Given the description of an element on the screen output the (x, y) to click on. 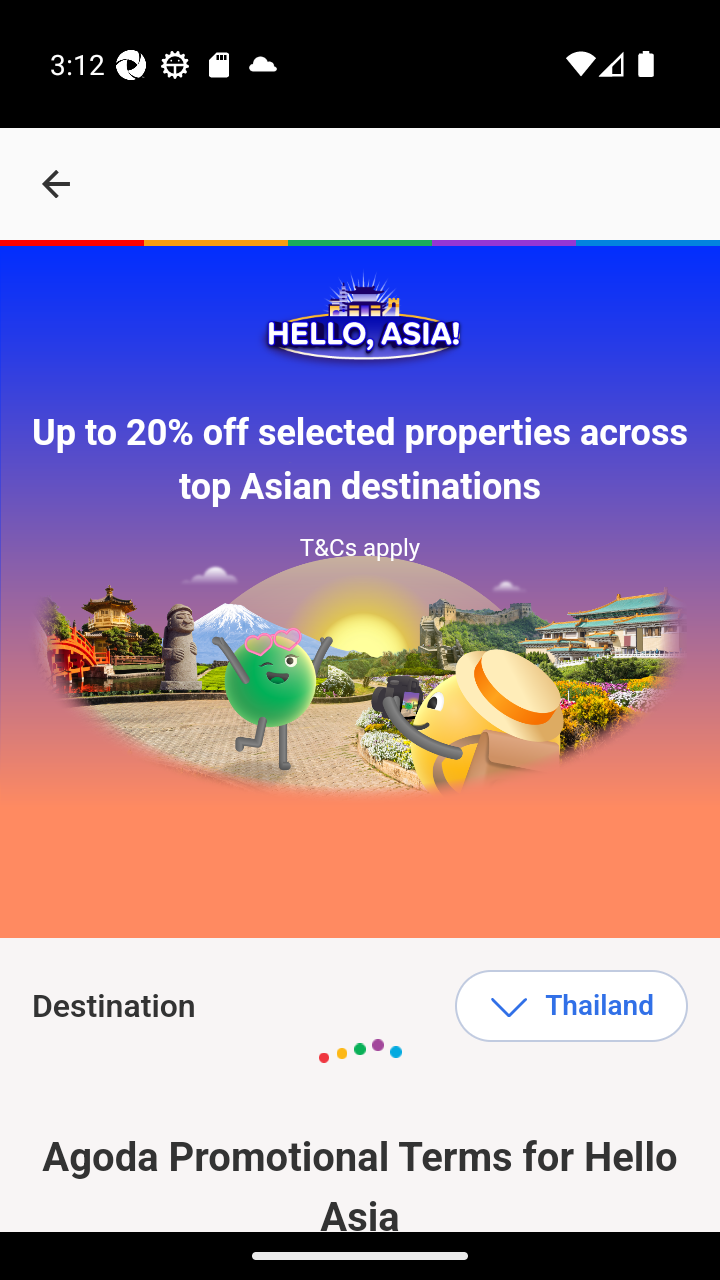
navigation_button (56, 184)
Thailand (571, 1005)
